Given the description of an element on the screen output the (x, y) to click on. 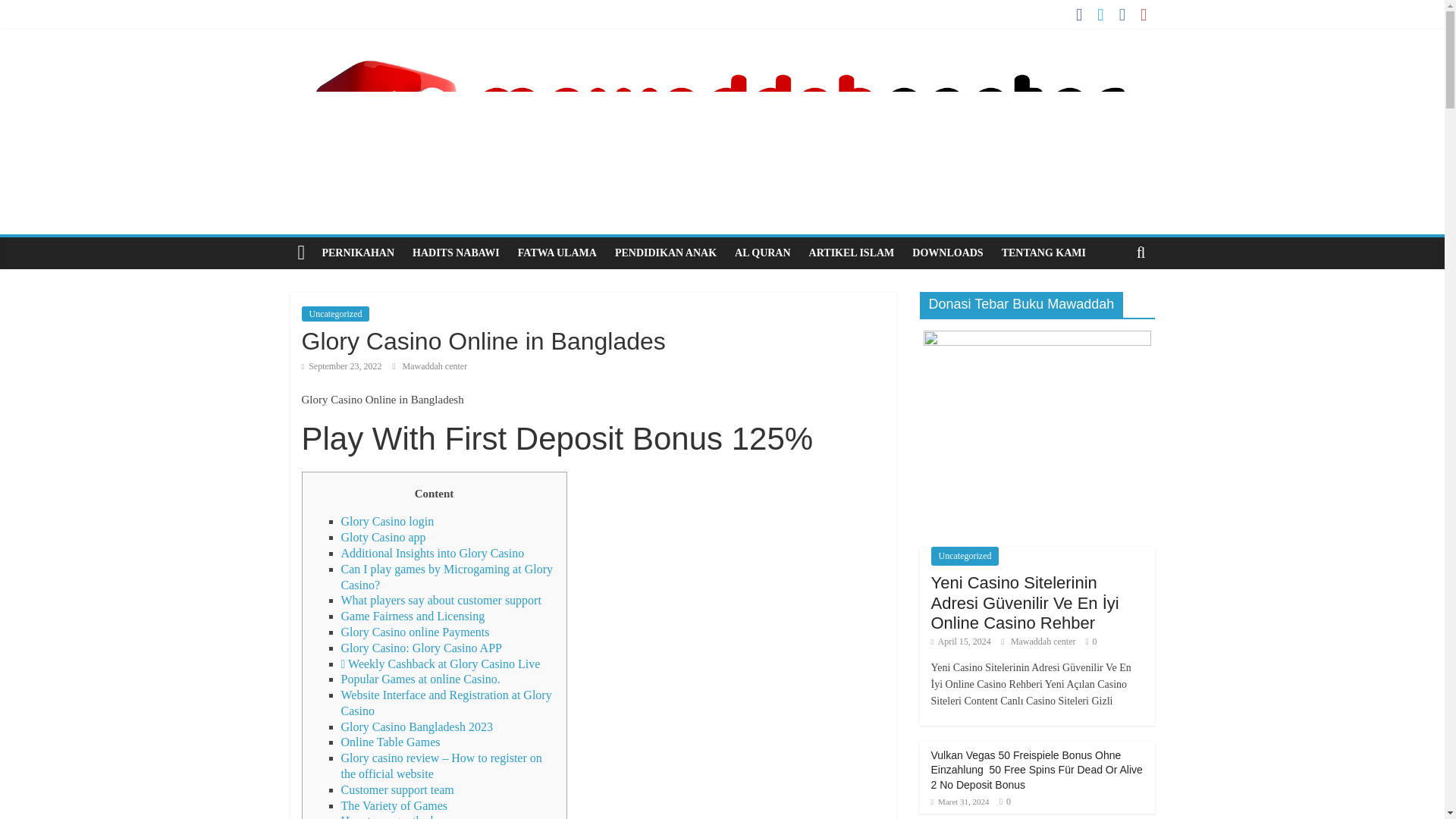
Online Table Games (390, 741)
Uncategorized (335, 313)
Website Interface and Registration at Glory Casino (445, 702)
Glory Casino Bangladesh 2023 (416, 726)
HADITS NABAWI (455, 253)
Can I play games by Microgaming at Glory Casino? (446, 576)
ARTIKEL ISLAM (851, 253)
How to wager the bonus (400, 816)
TENTANG KAMI (1043, 253)
The Variety of Games (394, 805)
